Given the description of an element on the screen output the (x, y) to click on. 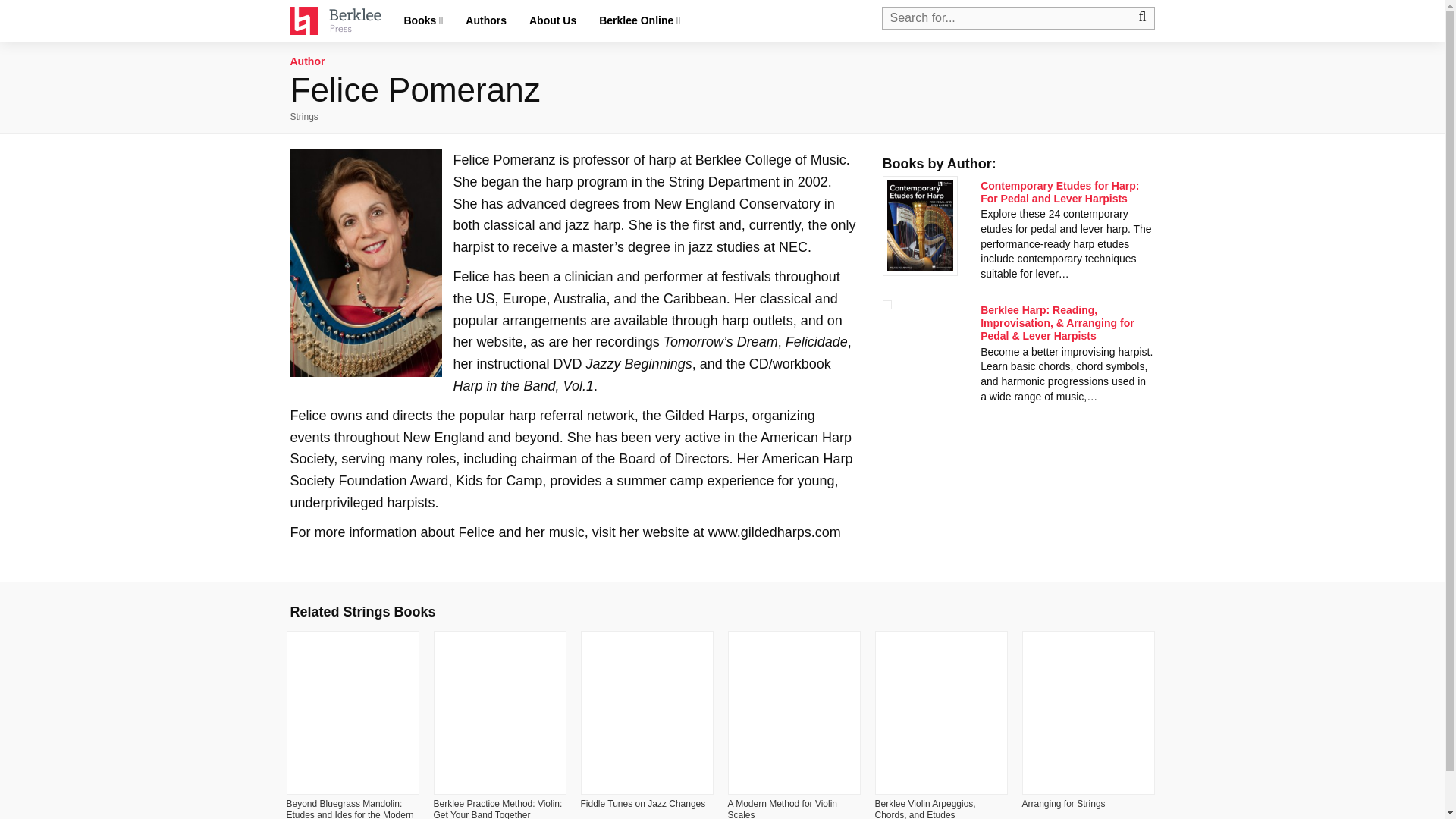
A Modern Method for Violin Scales (1077, 808)
About Us (553, 20)
Author (306, 61)
Violin Fingerboard Mastery (343, 808)
Books (423, 20)
Jazz Duets (939, 808)
Authors (486, 20)
The Irish Cello Book (497, 808)
Beyond Bluegrass Mandolin (643, 808)
Contemporary Etudes for Harp: For Pedal and Lever Harpists (1058, 191)
Strings (303, 116)
Beyond Bluegrass Banjo (794, 808)
Berklee Online (639, 20)
Berklee Harp (1056, 322)
Contemporary Etudes for Harp (1058, 191)
